Given the description of an element on the screen output the (x, y) to click on. 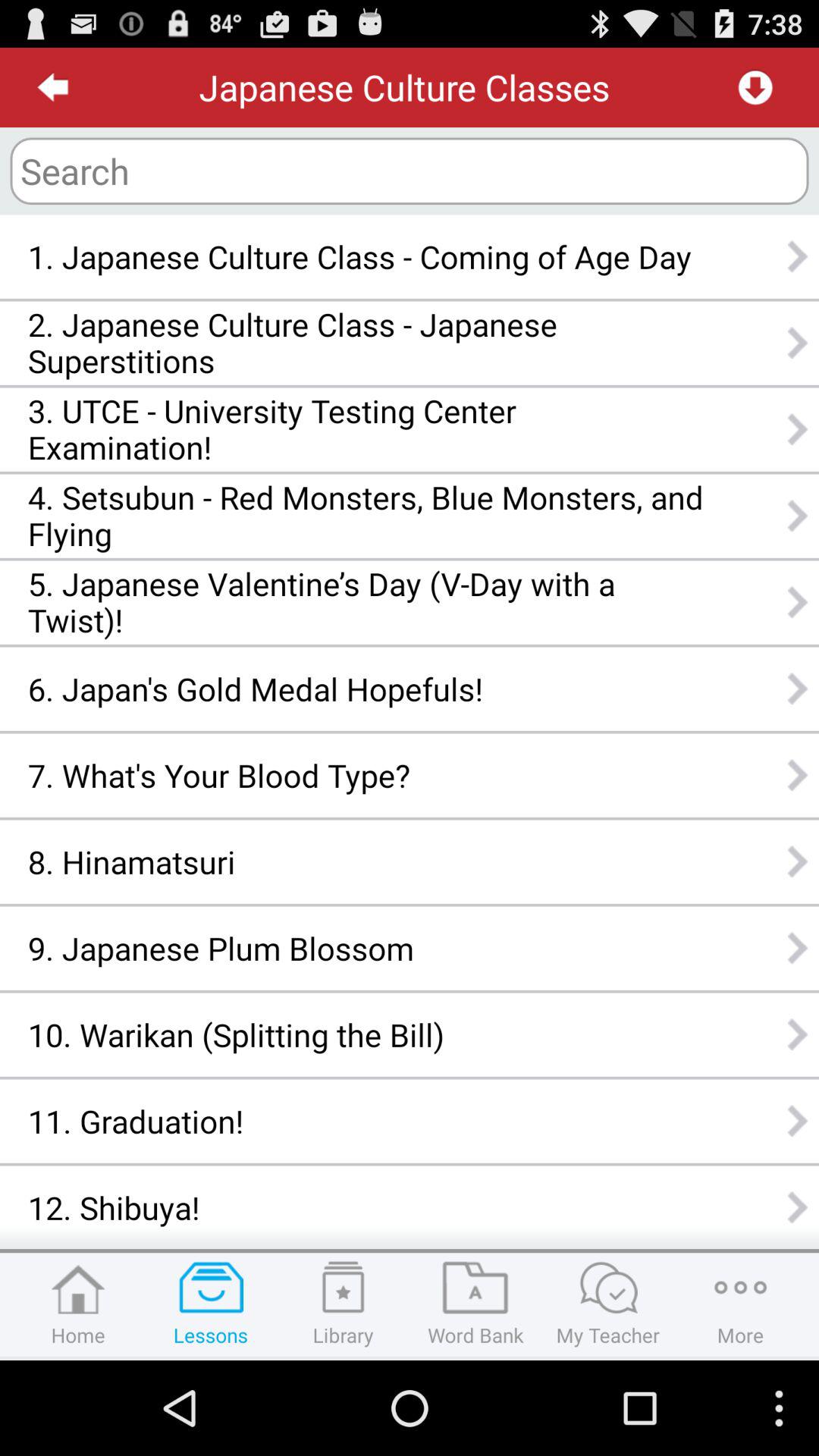
select the item above 9 japanese plum (365, 861)
